Given the description of an element on the screen output the (x, y) to click on. 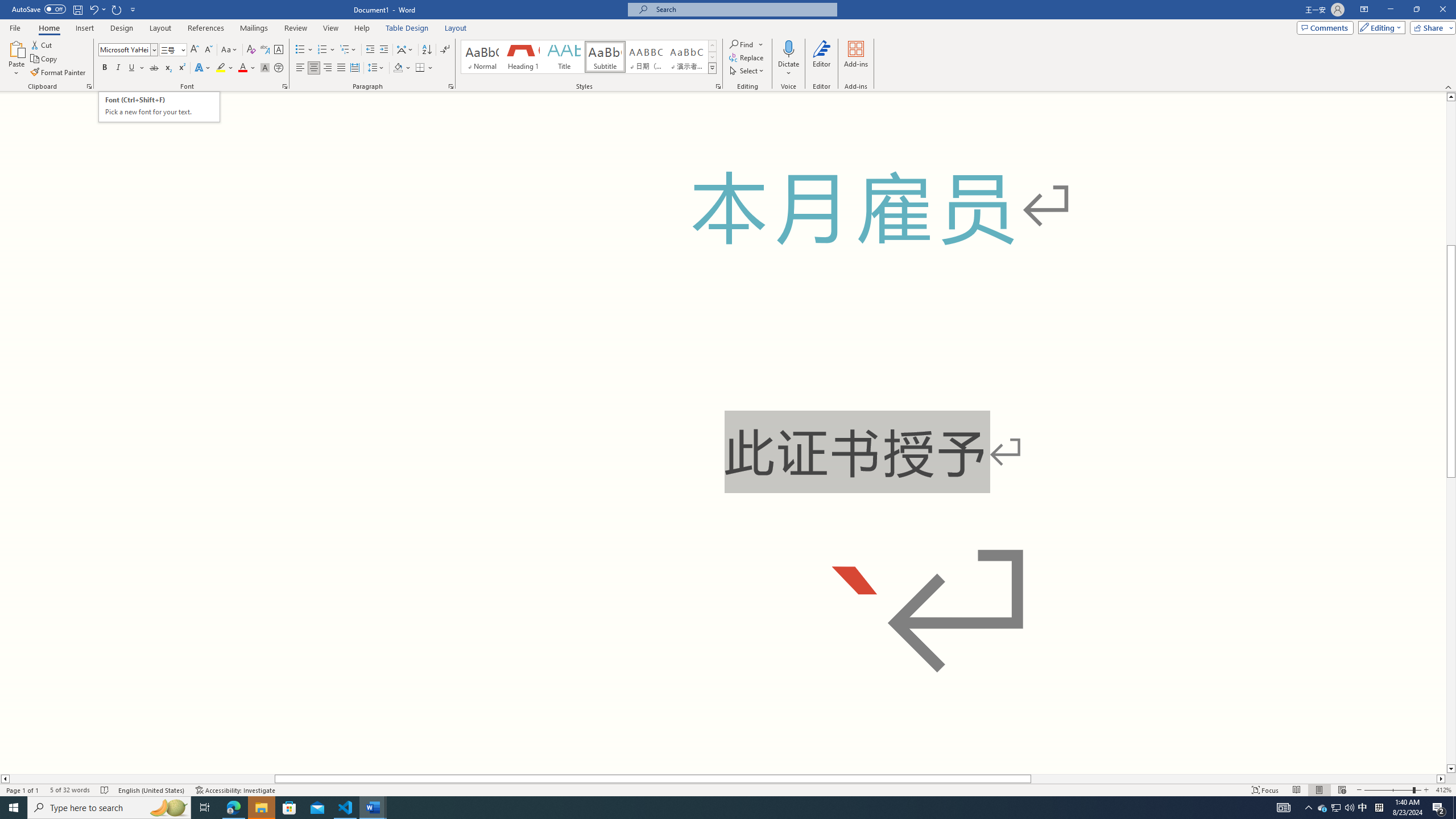
Spelling and Grammar Check No Errors (105, 790)
Word Count 5 of 32 words (69, 790)
Page right (1233, 778)
AutomationID: QuickStylesGallery (588, 56)
